Given the description of an element on the screen output the (x, y) to click on. 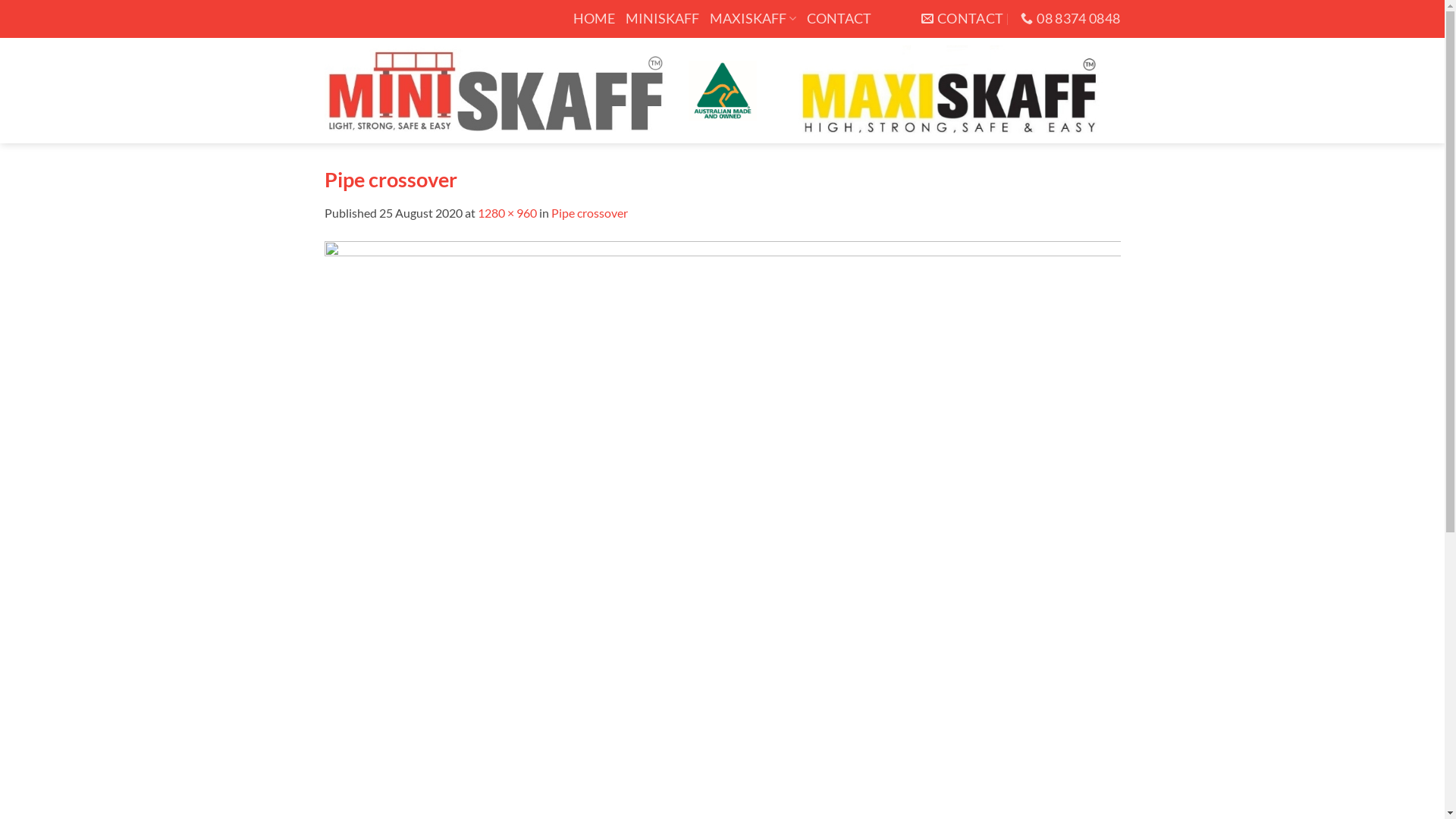
08 8374 0848 Element type: text (1070, 18)
HOME Element type: text (594, 18)
Pipe crossover Element type: hover (722, 537)
MINISKAFF Element type: text (662, 18)
CONTACT Element type: text (838, 18)
Miniskaff - Scaffolding Equipment Hire Adelaide Element type: hover (722, 90)
MAXISKAFF Element type: text (752, 18)
Pipe crossover Element type: text (588, 212)
CONTACT Element type: text (962, 18)
